Given the description of an element on the screen output the (x, y) to click on. 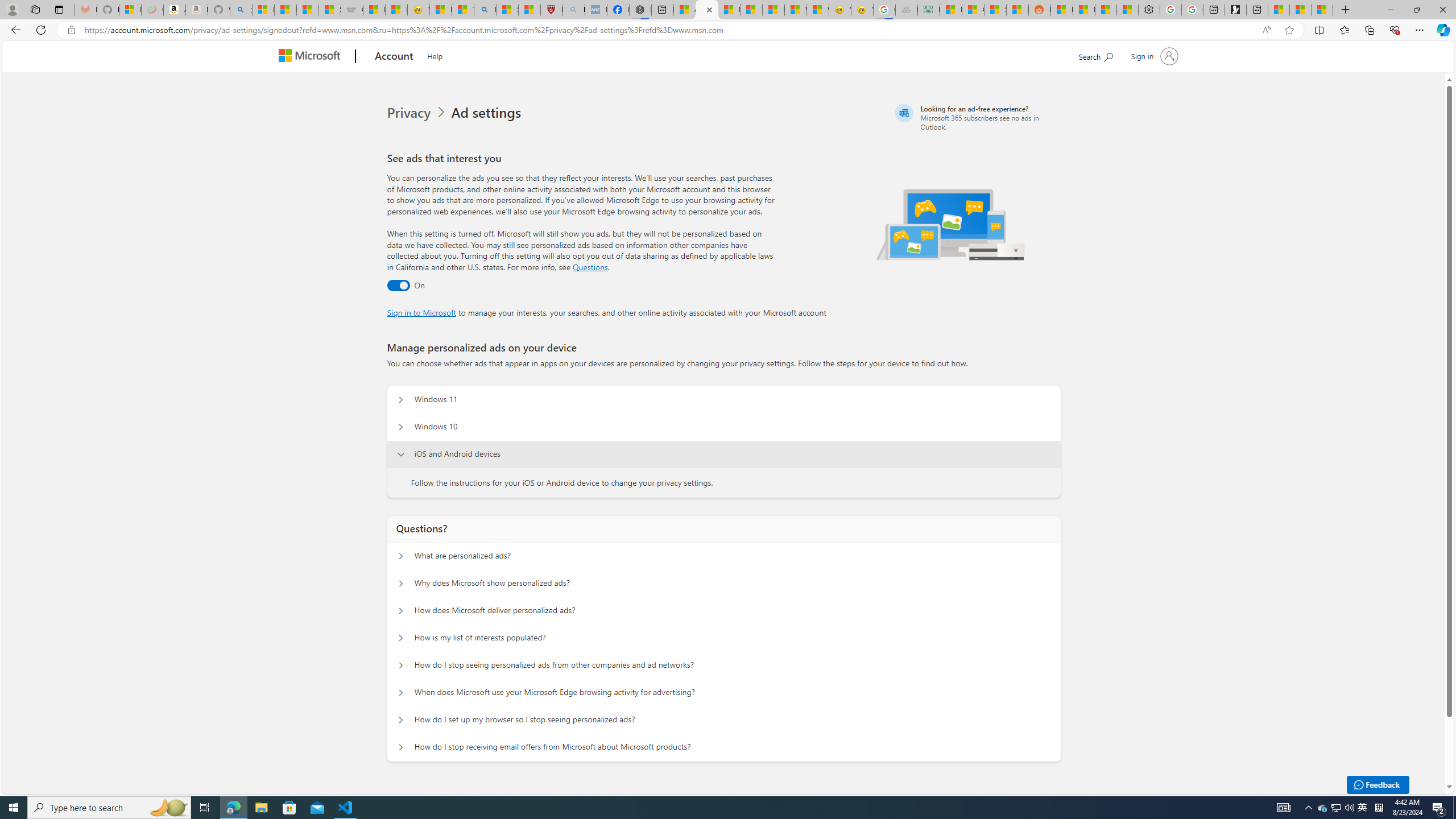
Go to Questions section (590, 266)
Minimize (1390, 9)
NCL Adult Asthma Inhaler Choice Guideline - Sleeping (595, 9)
Fitness - MSN (773, 9)
Stocks - MSN (995, 9)
Looking for an ad-free experience? (976, 117)
Privacy (418, 112)
Read aloud this page (Ctrl+Shift+U) (1266, 29)
Robert H. Shmerling, MD - Harvard Health (551, 9)
Add this page to favorites (Ctrl+D) (1289, 29)
New tab (1256, 9)
Personal Profile (12, 9)
list of asthma inhalers uk - Search - Sleeping (573, 9)
Close tab (709, 9)
